Given the description of an element on the screen output the (x, y) to click on. 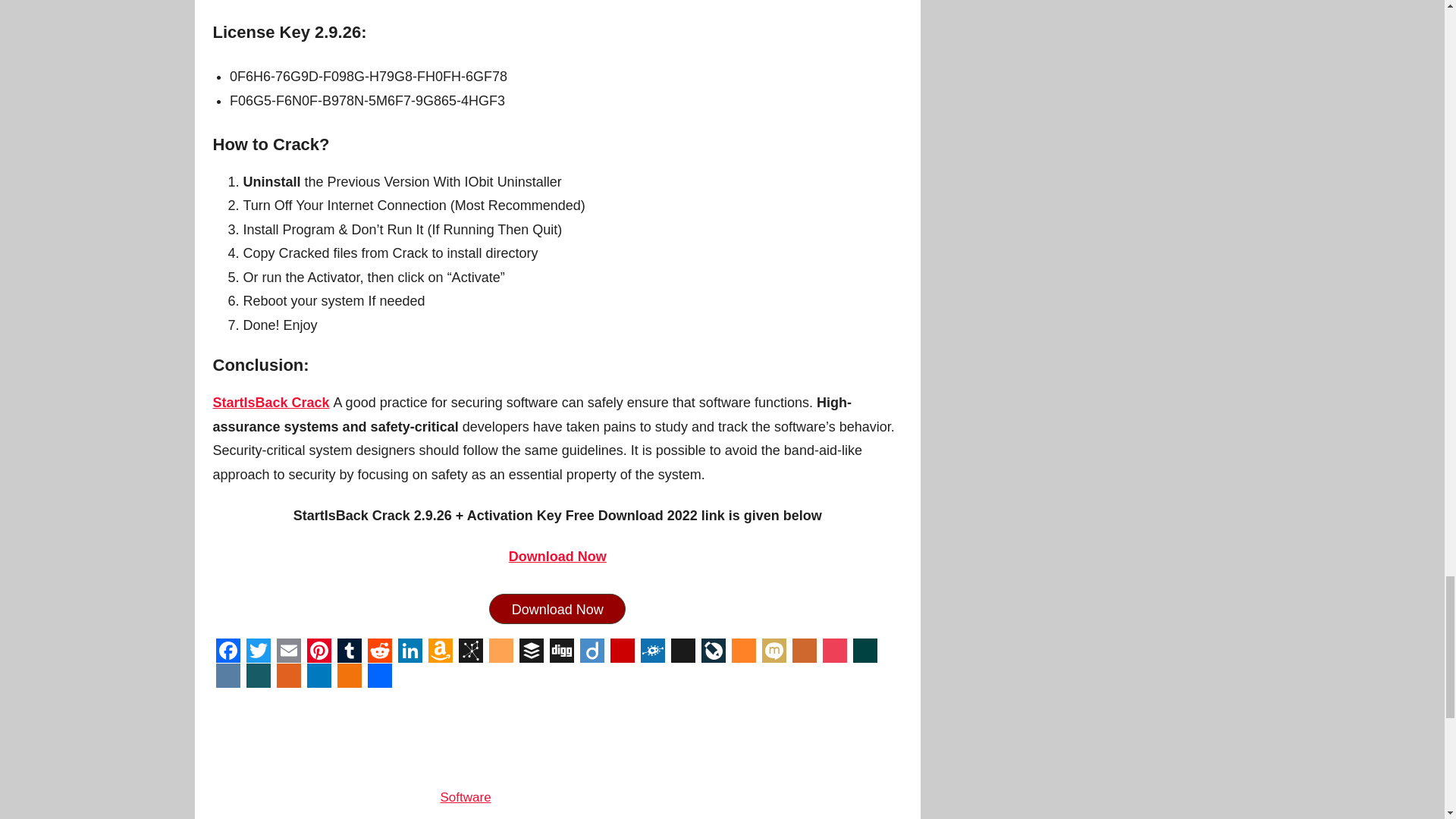
Facebook (227, 650)
Pinterest (317, 650)
Twitter (258, 650)
Tumblr (348, 650)
Email (287, 650)
